Given the description of an element on the screen output the (x, y) to click on. 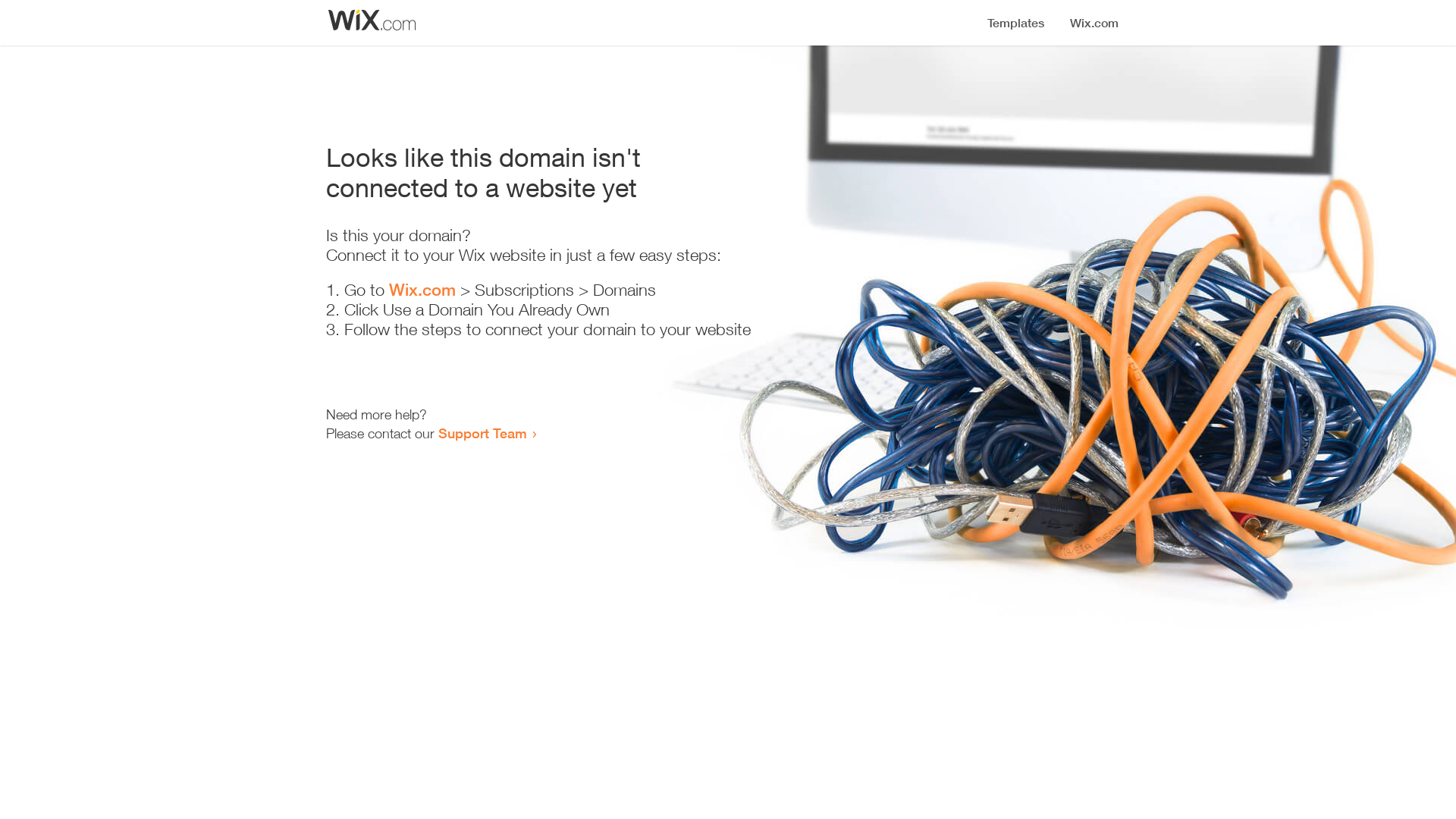
Support Team Element type: text (482, 432)
Wix.com Element type: text (422, 289)
